Given the description of an element on the screen output the (x, y) to click on. 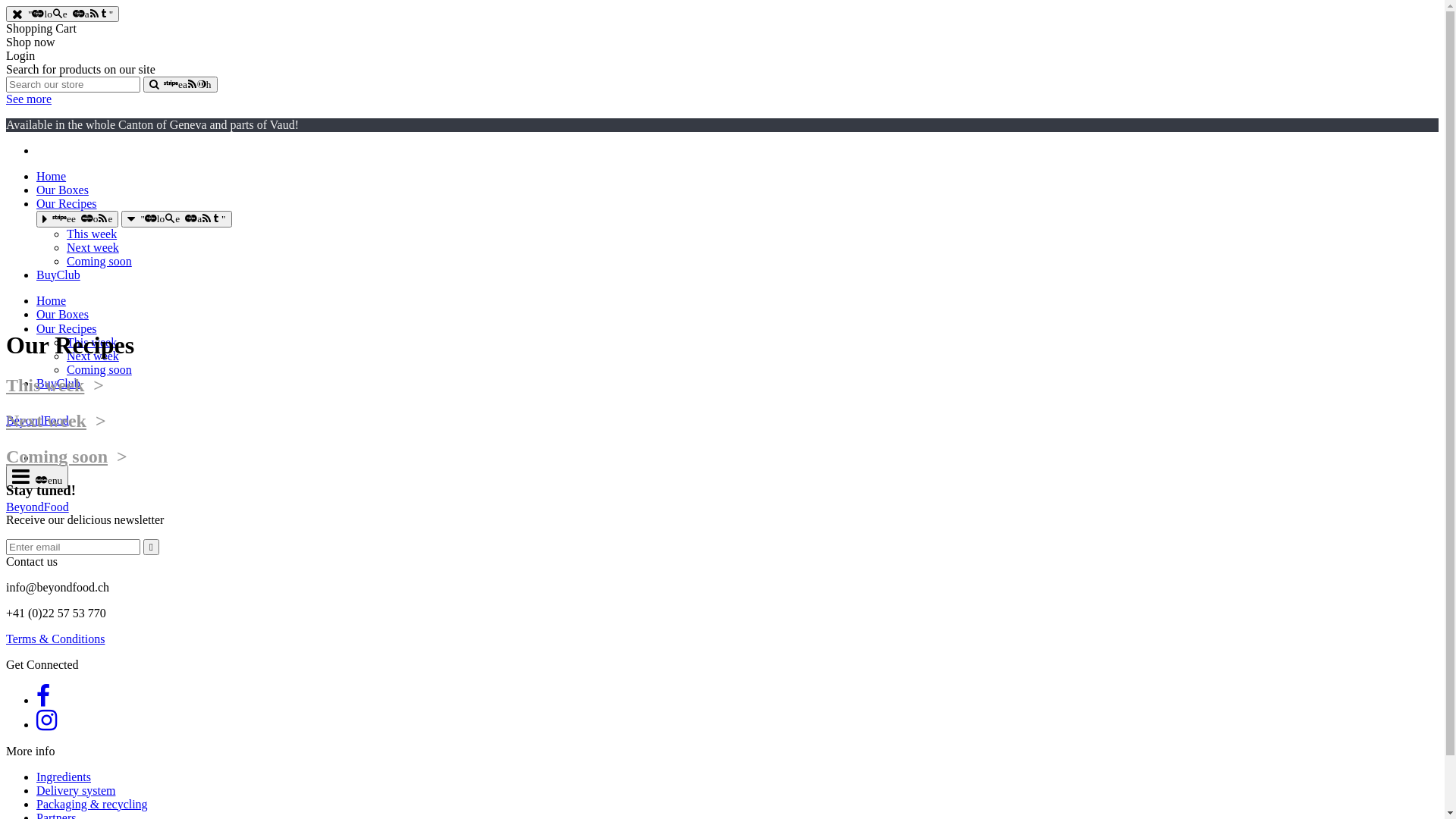
Coming soon Element type: text (98, 260)
Terms & Conditions Element type: text (55, 638)
Next week Element type: text (46, 420)
Home Element type: text (50, 175)
See more Element type: text (77, 218)
Menu Element type: text (37, 476)
"Close Cart" Element type: text (176, 218)
Our Recipes Element type: text (66, 328)
Home Element type: text (50, 300)
See more Element type: text (28, 98)
Next week Element type: text (92, 247)
This week Element type: text (45, 385)
"Close Cart" Element type: text (62, 13)
This week Element type: text (91, 233)
This week Element type: text (91, 341)
Our Boxes Element type: text (62, 189)
BeyondFood Element type: text (37, 420)
Coming soon Element type: text (56, 456)
Search Element type: text (180, 83)
Our Recipes Element type: text (66, 203)
Coming soon Element type: text (98, 369)
BuyClub Element type: text (58, 274)
Our Boxes Element type: text (62, 313)
Ingredients Element type: text (63, 776)
BuyClub Element type: text (58, 382)
Delivery system Element type: text (75, 790)
BeyondFood Element type: text (37, 506)
Next week Element type: text (92, 355)
Packaging & recycling Element type: text (91, 803)
